Given the description of an element on the screen output the (x, y) to click on. 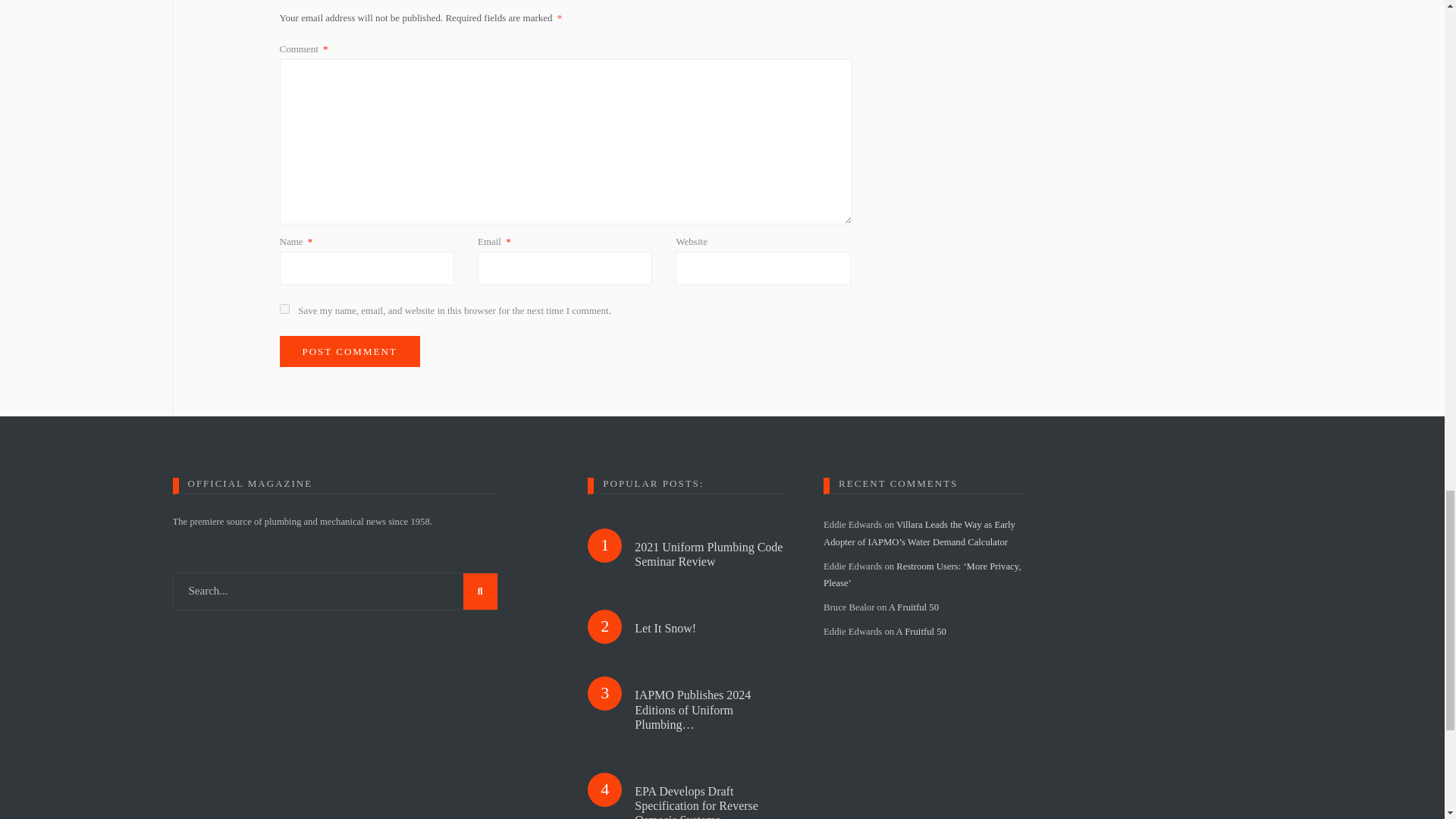
Let It Snow!  (711, 627)
2021 Uniform Plumbing Code Seminar Review (711, 553)
yes (283, 308)
EPA Develops Draft Specification for Reverse Osmosis Systems (711, 801)
Search... (335, 591)
Post Comment (349, 351)
Post Comment (349, 351)
